Given the description of an element on the screen output the (x, y) to click on. 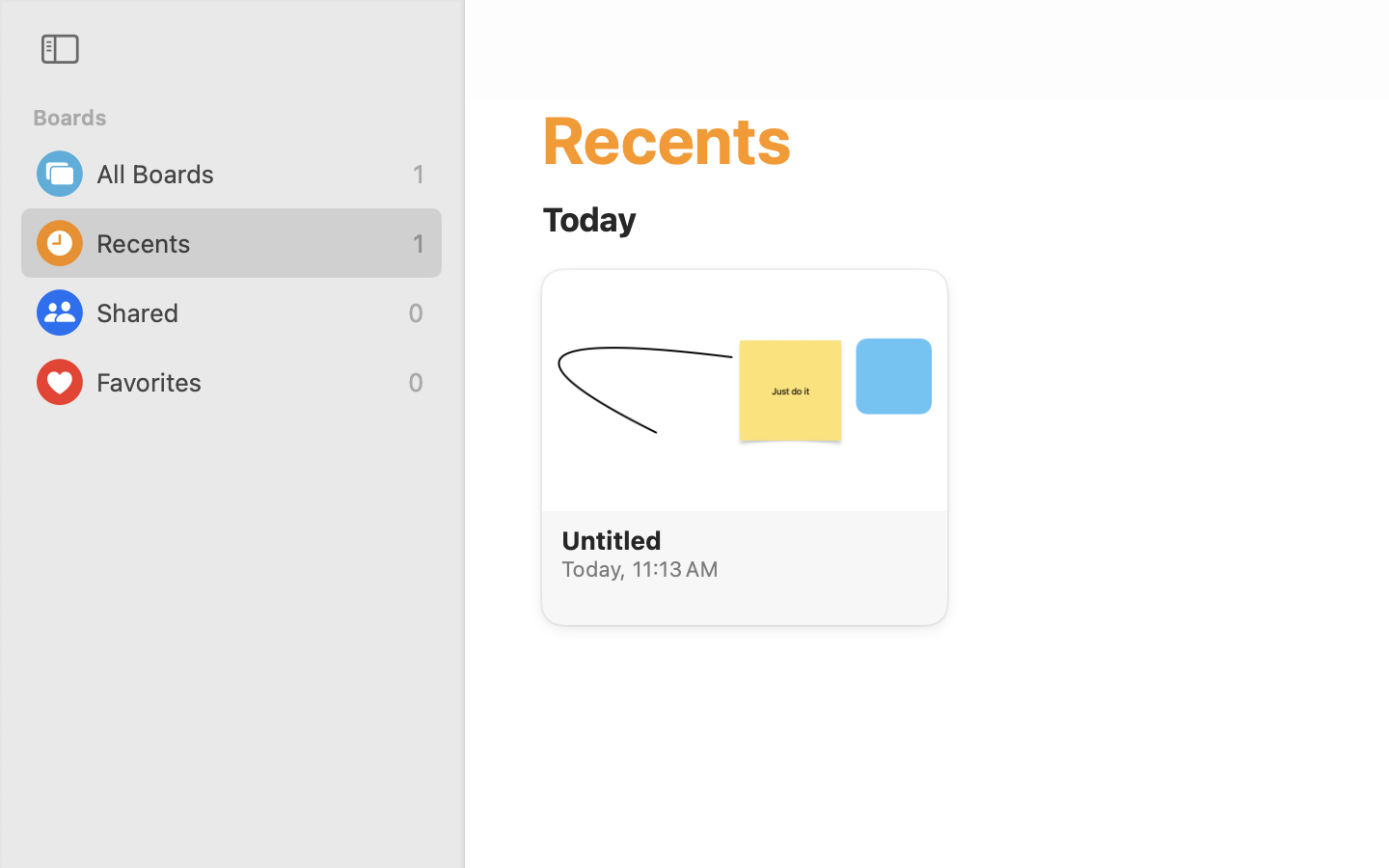
Boards Element type: AXStaticText (242, 117)
Recents Element type: AXStaticText (249, 242)
